Given the description of an element on the screen output the (x, y) to click on. 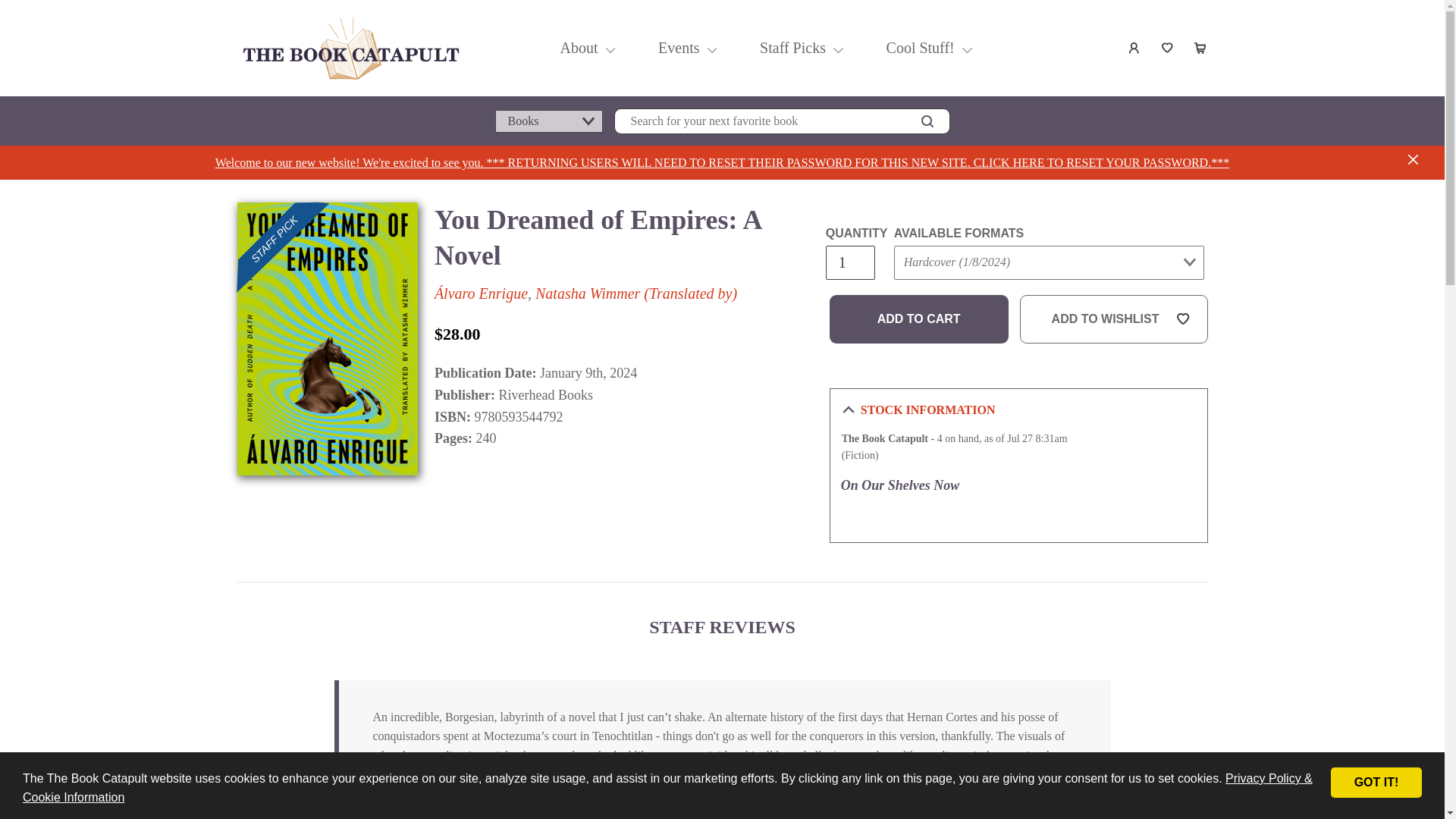
Add to cart (919, 318)
Cart (1201, 47)
Log in (1134, 47)
Wishlists (1168, 47)
Cart (1201, 47)
1 (850, 262)
Cool Stuff! (919, 47)
Wishlist (1168, 47)
Log in (1134, 47)
Events (679, 47)
Staff Picks (792, 47)
